Given the description of an element on the screen output the (x, y) to click on. 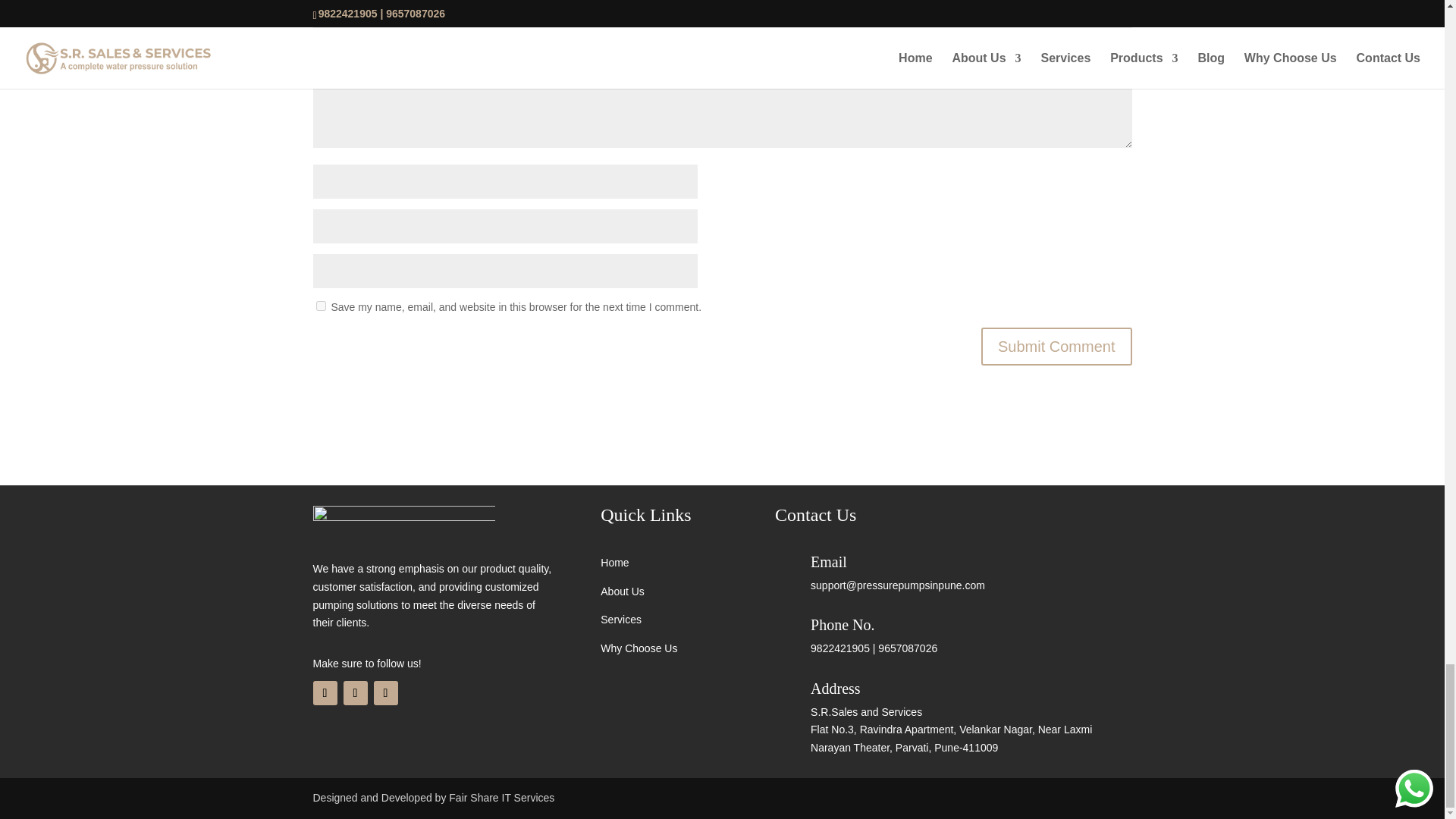
Fair Share IT Services (501, 797)
Follow on Instagram (354, 692)
yes (319, 306)
Why Choose Us (638, 648)
About Us (622, 591)
Follow on LinkedIn (384, 692)
Home (613, 562)
Services (620, 619)
Submit Comment (1056, 346)
Follow on Facebook (324, 692)
Submit Comment (1056, 346)
